Given the description of an element on the screen output the (x, y) to click on. 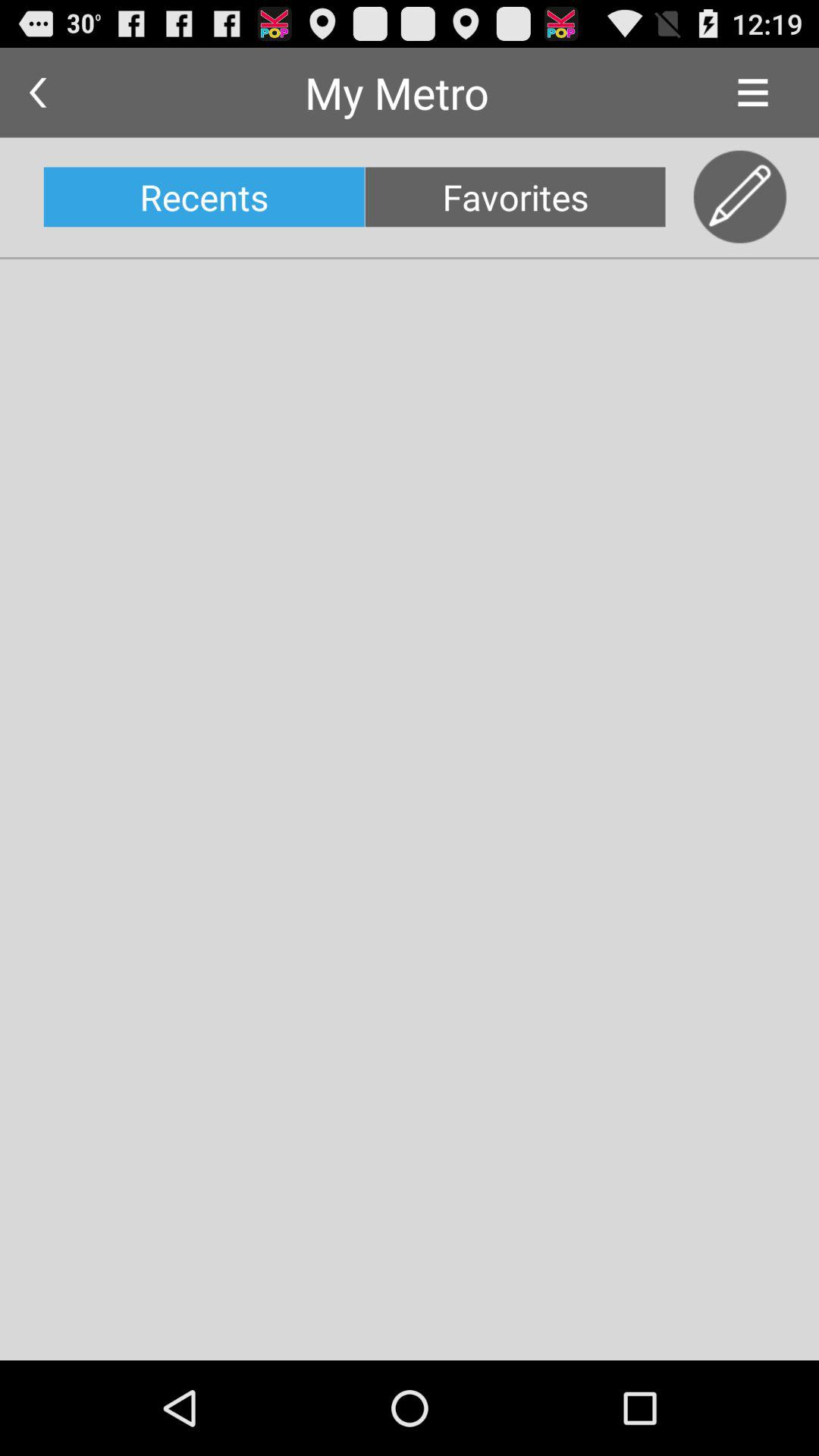
tap the item to the left of my metro (37, 92)
